Given the description of an element on the screen output the (x, y) to click on. 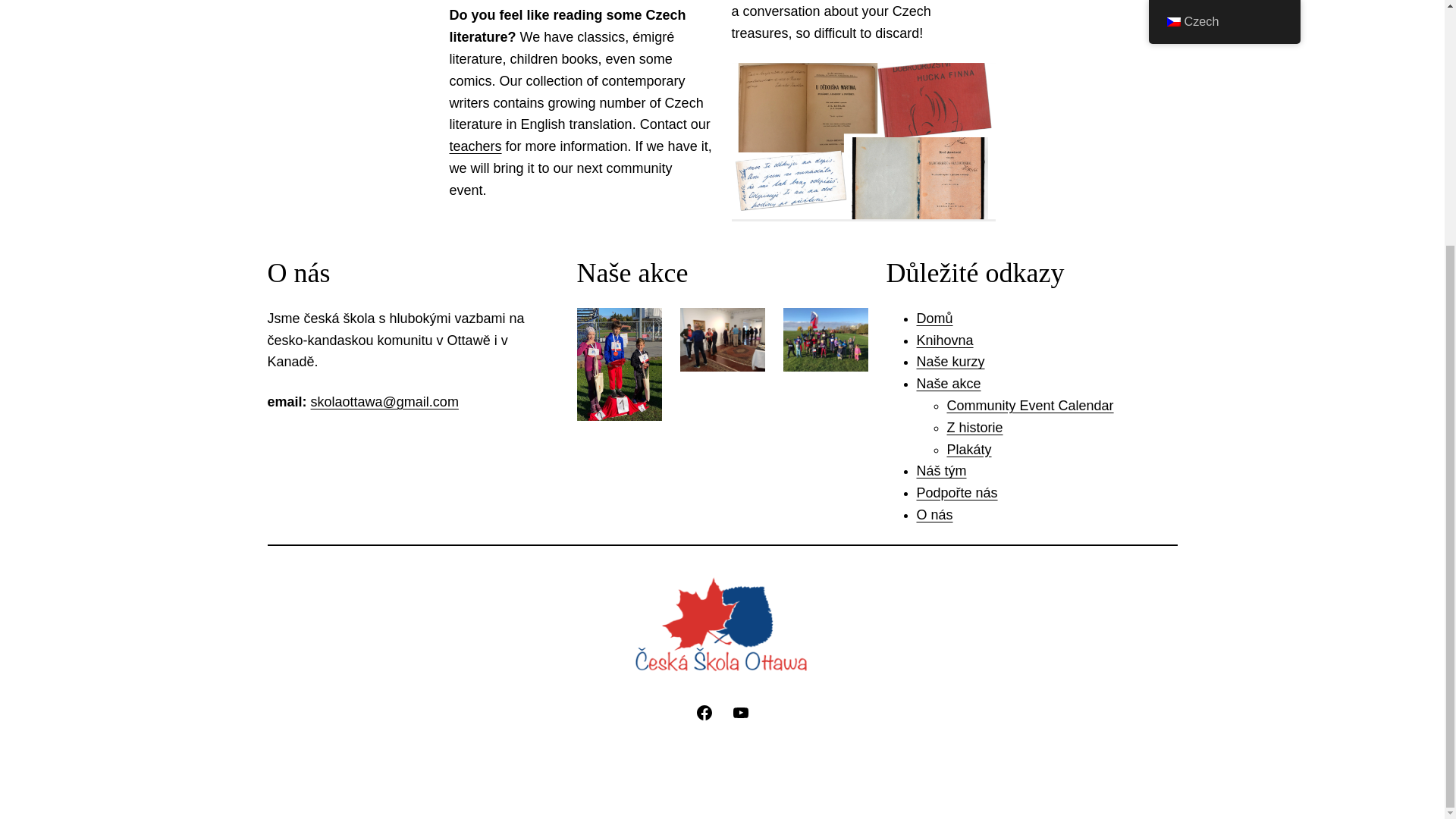
Community Event Calendar (1029, 405)
YouTube (739, 712)
Knihovna (943, 340)
teachers (474, 145)
Facebook (703, 712)
Z historie (974, 427)
